Given the description of an element on the screen output the (x, y) to click on. 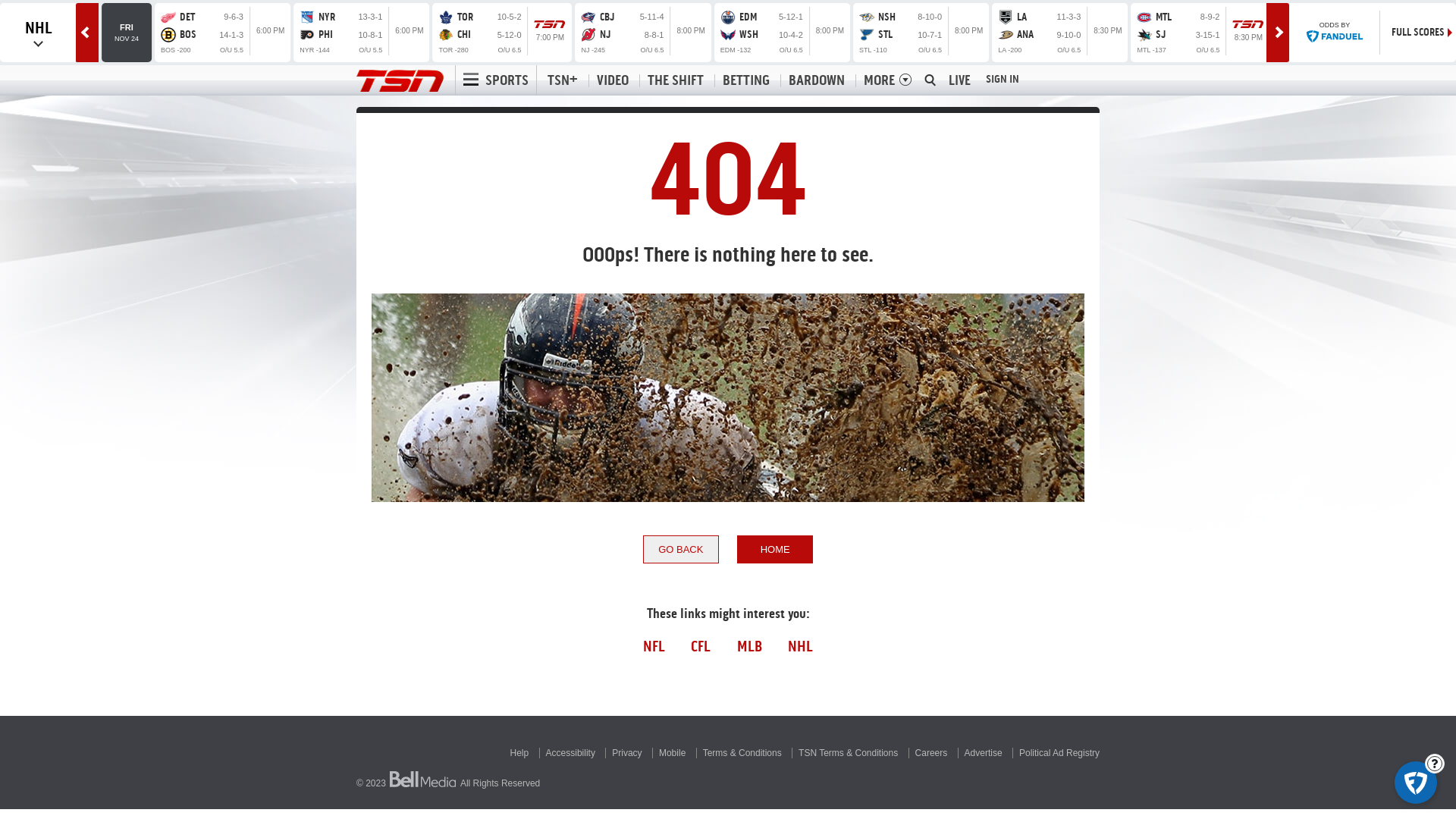
Help Element type: text (519, 752)
CFL Element type: text (700, 646)
BETTING Element type: text (745, 80)
Terms & Conditions Element type: text (741, 752)
Careers Element type: text (931, 752)
BARDOWN Element type: text (816, 80)
NHL Element type: text (799, 646)
Mobile Element type: text (671, 752)
TSN Terms & Conditions Element type: text (847, 752)
GO BACK Element type: text (680, 549)
Privacy Element type: text (626, 752)
Bell Media Element type: hover (422, 779)
Advertise Element type: text (983, 752)
VIDEO Element type: text (612, 80)
MLB Element type: text (749, 646)
NFL Element type: text (654, 646)
TSN+ Element type: text (562, 80)
Accessibility Element type: text (570, 752)
LIVE Element type: text (959, 80)
THE SHIFT Element type: text (675, 80)
Political Ad Registry Element type: text (1059, 752)
HOME Element type: text (774, 549)
SIGN IN Element type: text (1002, 78)
